Given the description of an element on the screen output the (x, y) to click on. 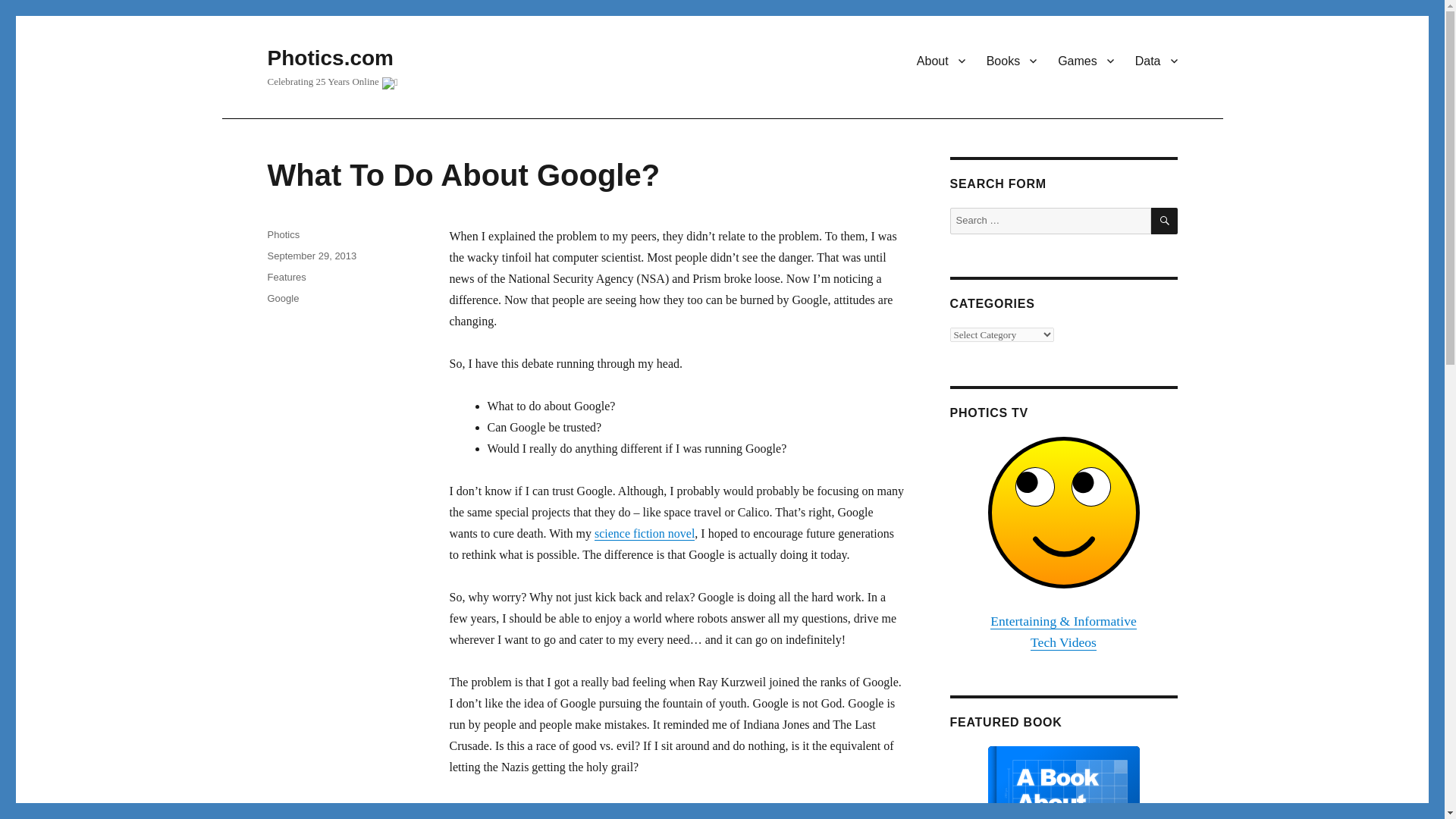
Books (1010, 60)
Revisions (644, 533)
Photics.com (329, 57)
Data (1156, 60)
Features (285, 276)
Games (1085, 60)
SEARCH (1164, 221)
September 29, 2013 (311, 255)
About (940, 60)
Google (282, 297)
science fiction novel (644, 533)
Photics (282, 234)
